Given the description of an element on the screen output the (x, y) to click on. 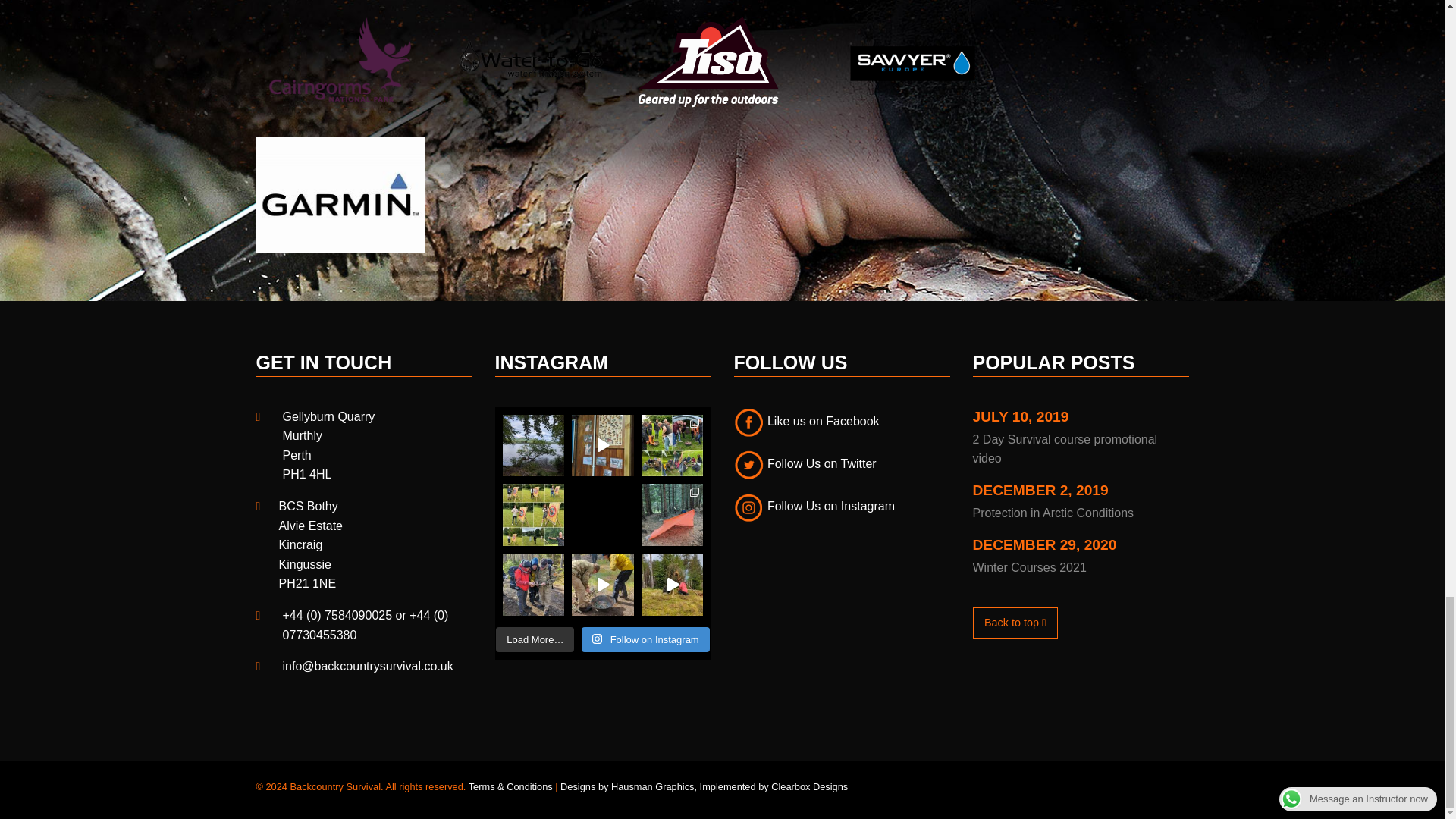
Follow on Instagram (645, 639)
Follow Us on Twitter (804, 463)
Like us on Facebook (806, 420)
Back to top (1014, 622)
